Given the description of an element on the screen output the (x, y) to click on. 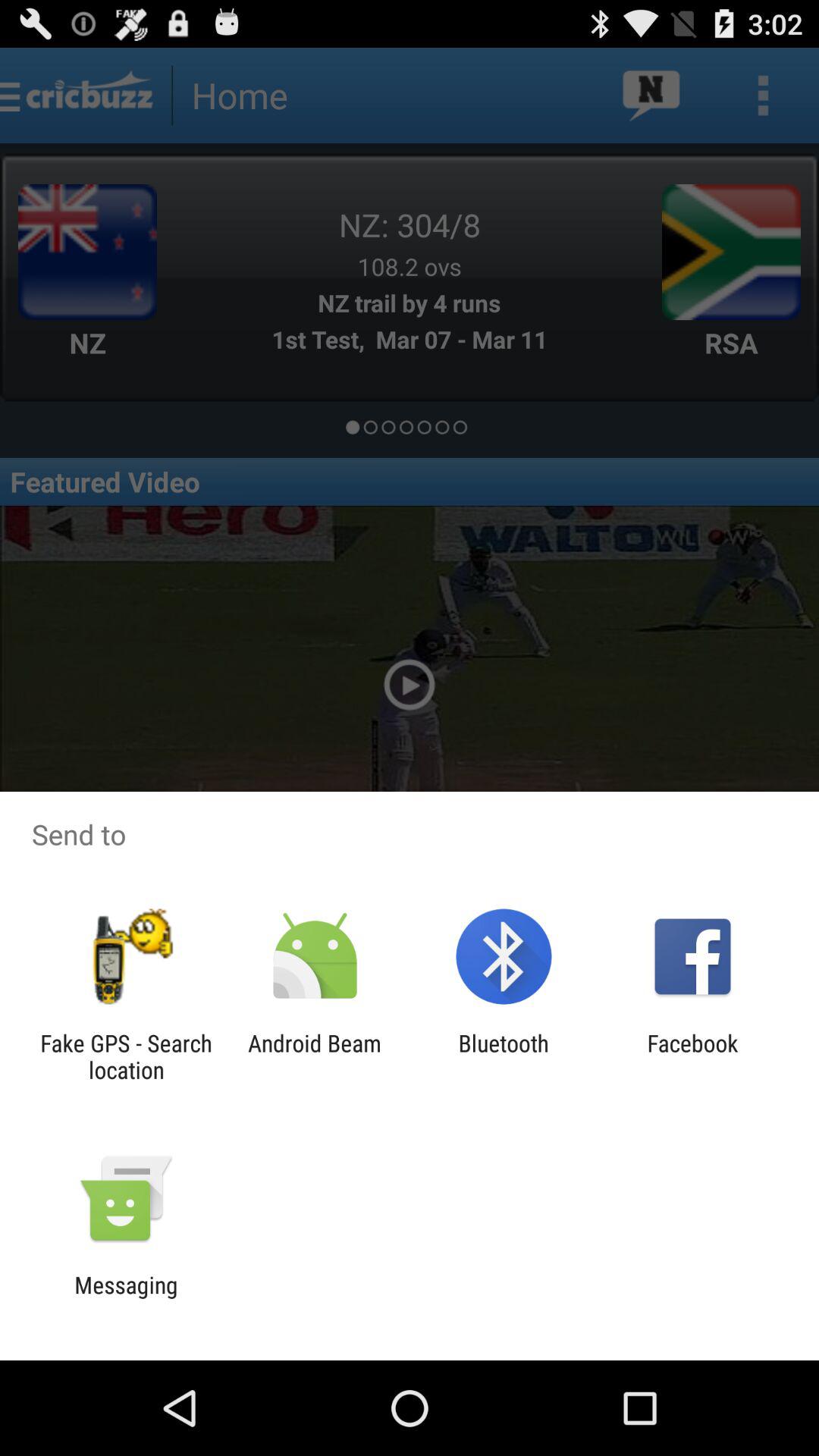
turn off the android beam icon (314, 1056)
